Given the description of an element on the screen output the (x, y) to click on. 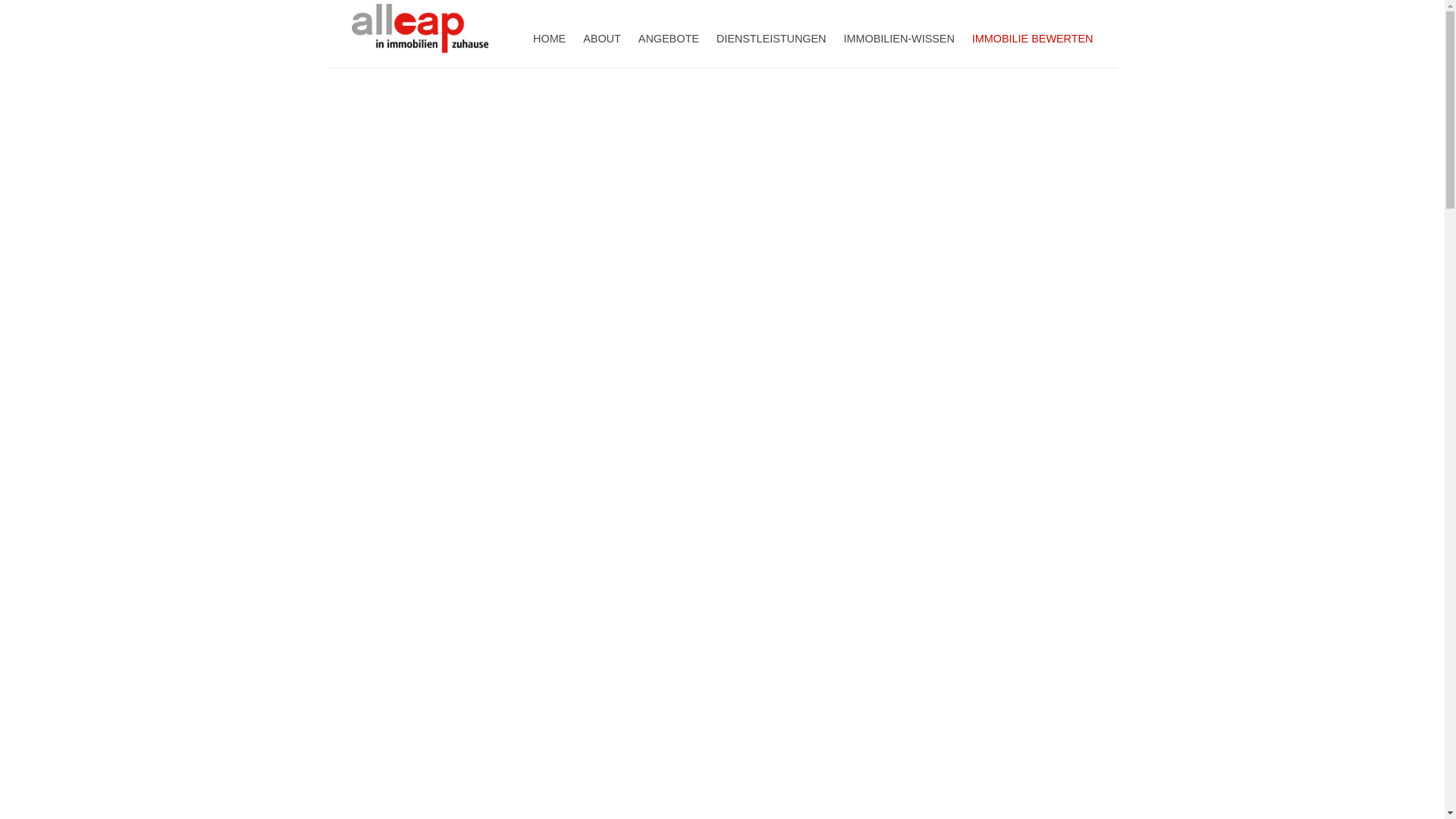
ANGEBOTE Element type: text (668, 35)
ABOUT Element type: text (602, 35)
IMMOBILIE BEWERTEN Element type: text (1032, 35)
HOME Element type: text (549, 35)
IMMOBILIEN-WISSEN Element type: text (899, 35)
allcap AG Element type: hover (419, 6)
DIENSTLEISTUNGEN Element type: text (771, 35)
